Given the description of an element on the screen output the (x, y) to click on. 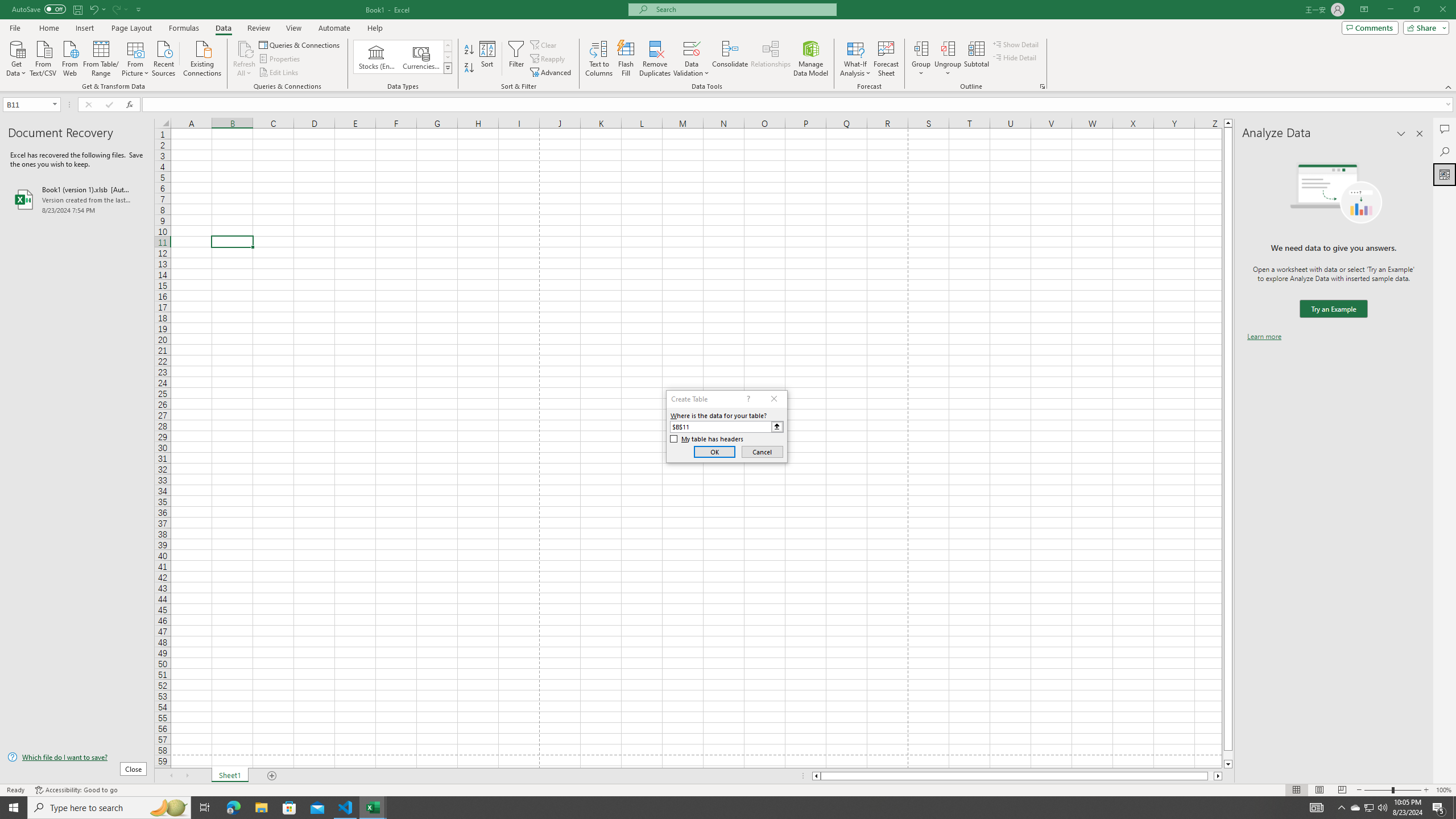
We need data to give you answers. Try an Example (1333, 308)
Relationships (770, 58)
Edit Links (279, 72)
Hide Detail (1014, 56)
From Web (69, 57)
